Given the description of an element on the screen output the (x, y) to click on. 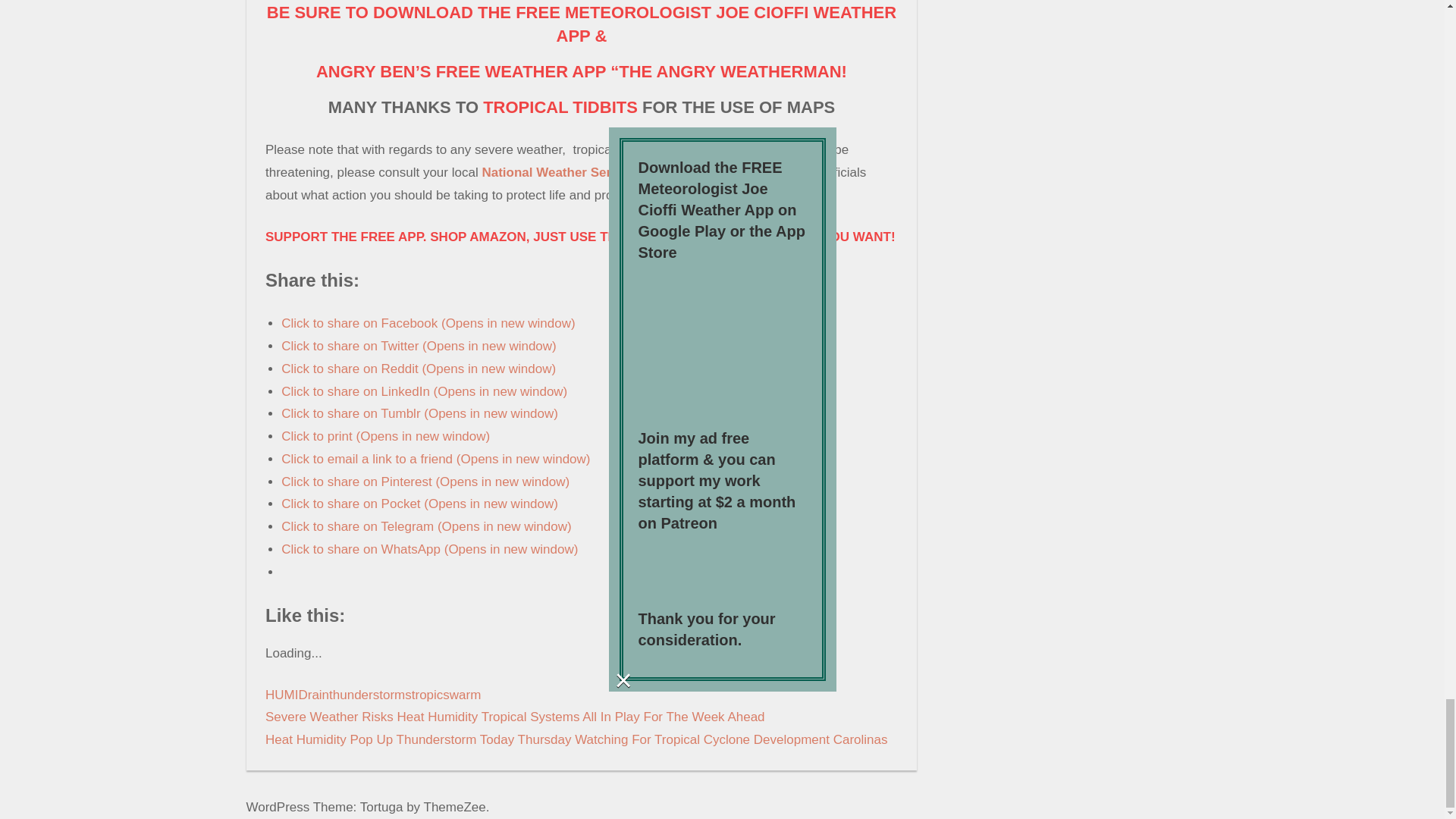
Click to share on Pocket (419, 503)
Click to share on Reddit (418, 368)
Click to share on Facebook (428, 323)
Click to share on Telegram (425, 526)
Click to share on Tumblr (419, 413)
Click to share on WhatsApp (429, 549)
Click to share on Pinterest (425, 481)
Click to share on Twitter (418, 345)
Click to print (385, 436)
Click to email a link to a friend (435, 459)
